Given the description of an element on the screen output the (x, y) to click on. 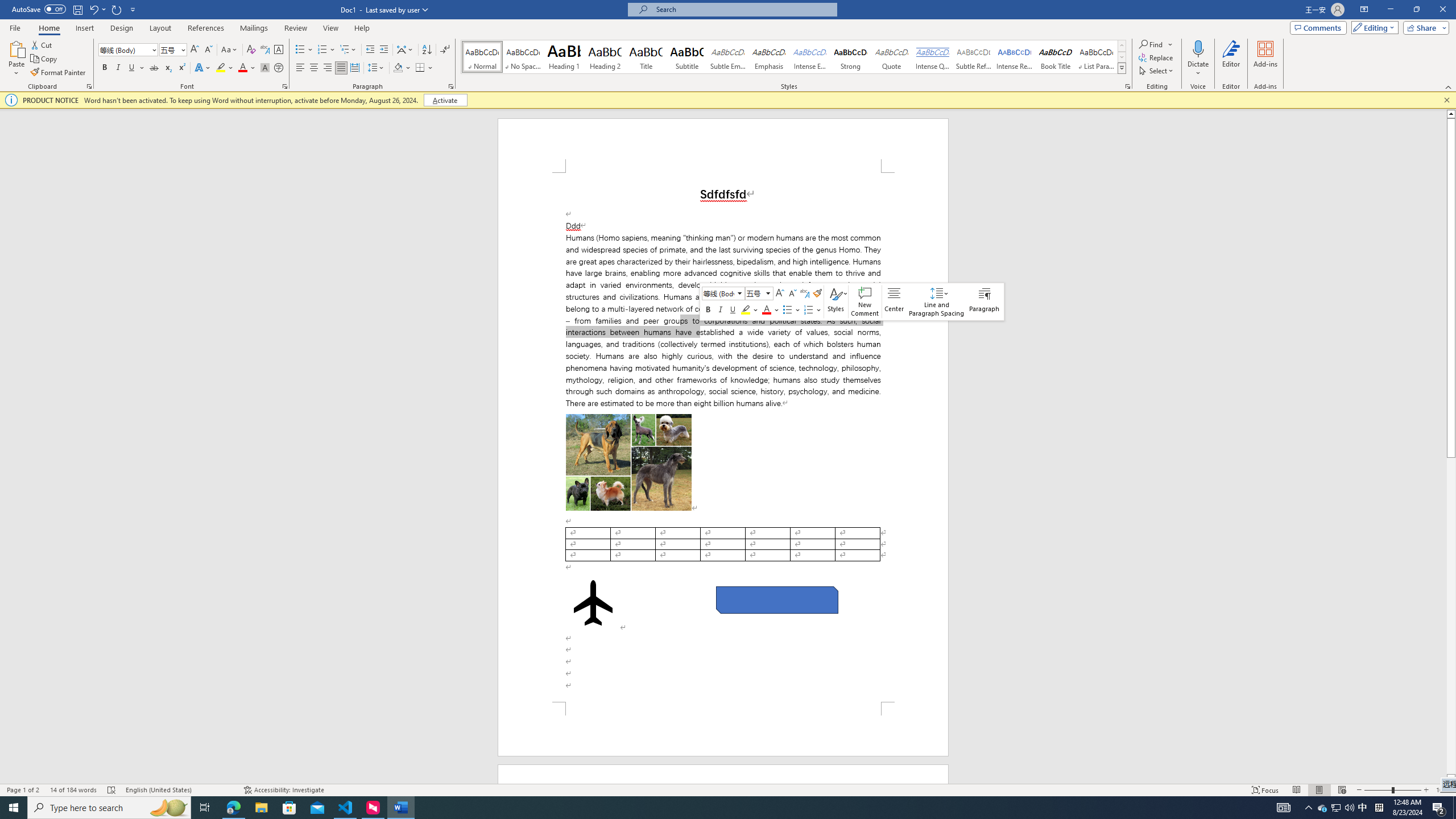
Class: NetUIComboboxAnchor (759, 293)
Class: NetUIAnchor (936, 301)
Rectangle: Diagonal Corners Snipped 2 (777, 599)
